Given the description of an element on the screen output the (x, y) to click on. 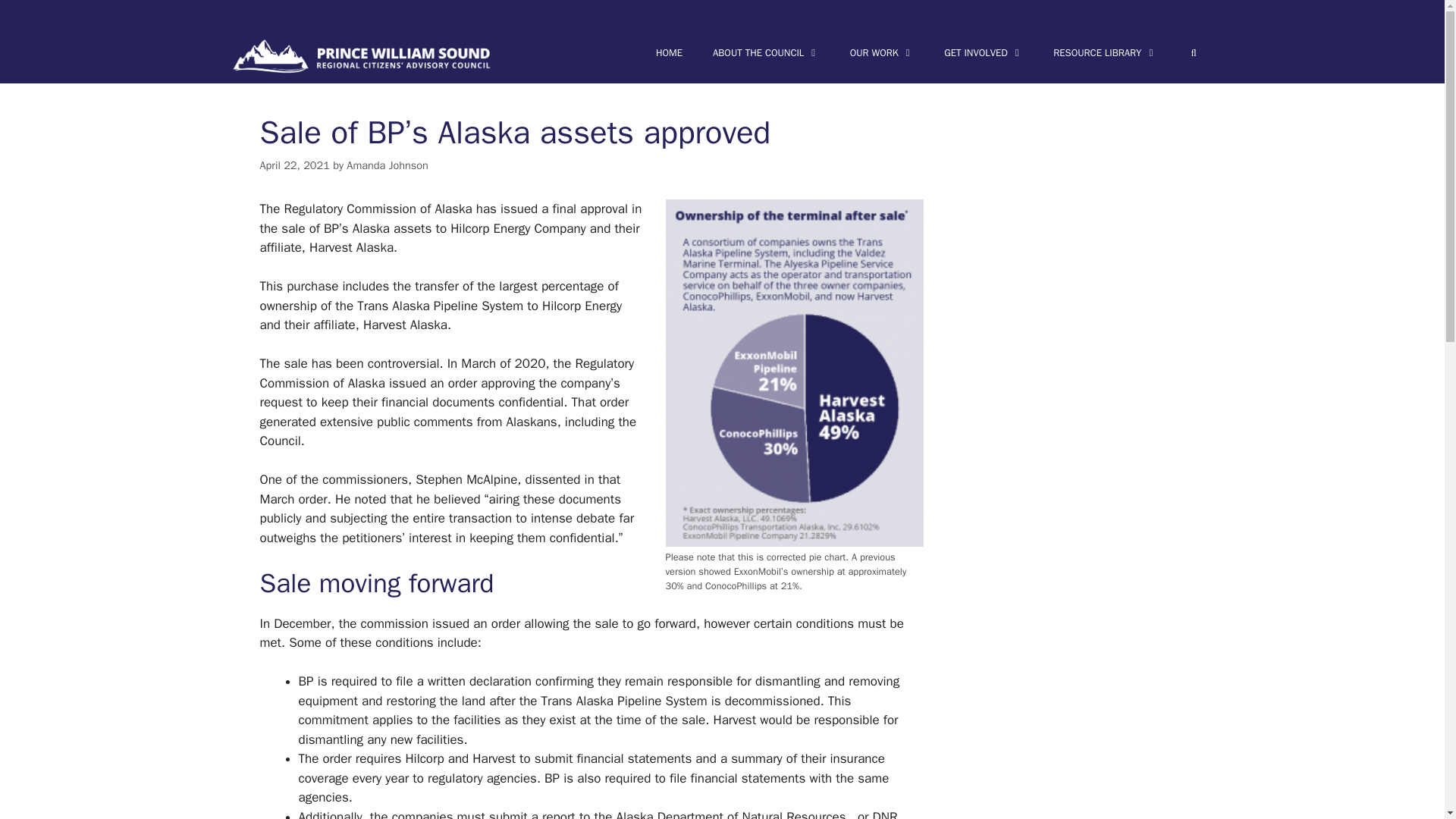
ABOUT THE COUNCIL (765, 53)
HOME (668, 53)
Prince William Sound (361, 56)
View all posts by Amanda Johnson (387, 164)
